Given the description of an element on the screen output the (x, y) to click on. 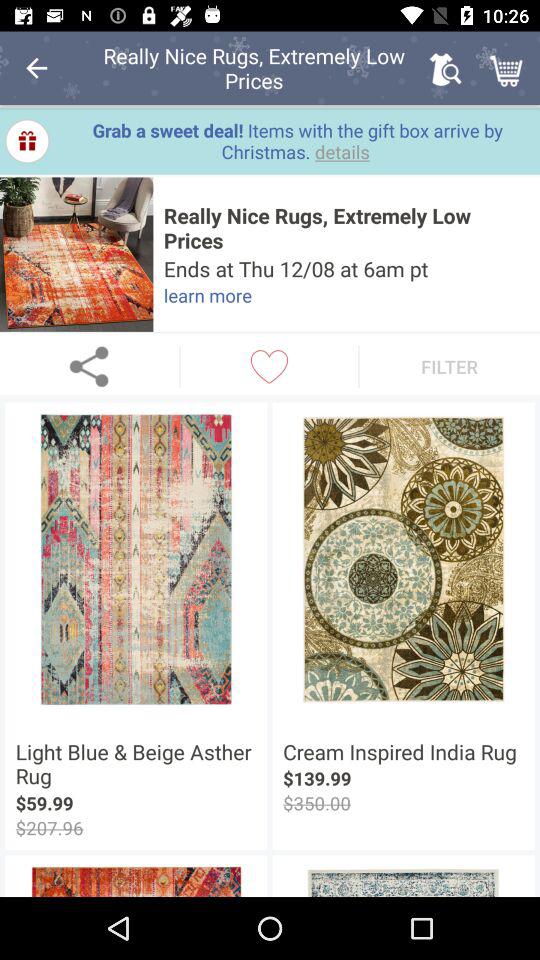
scroll until the filter icon (449, 366)
